Given the description of an element on the screen output the (x, y) to click on. 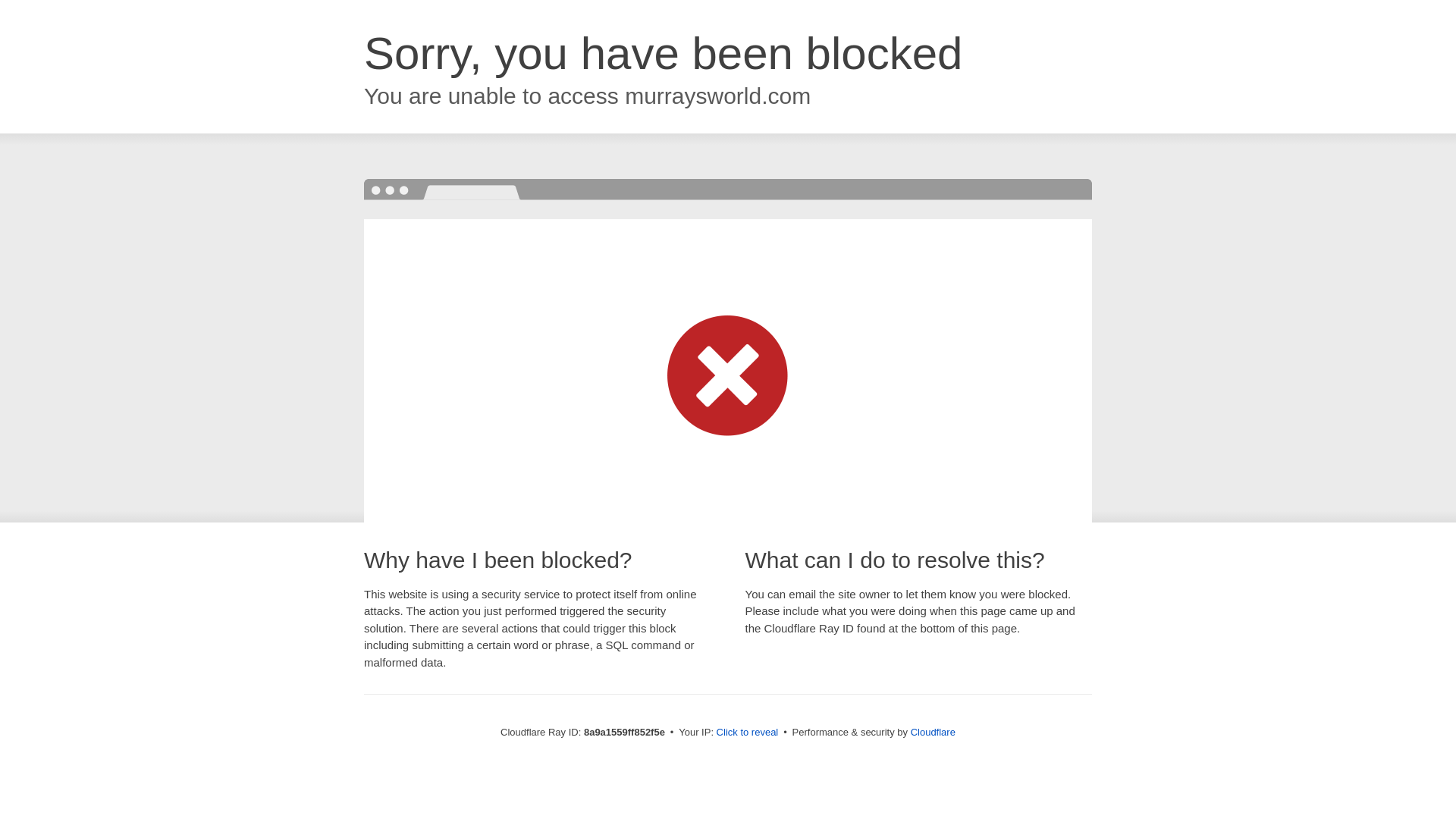
Cloudflare (933, 731)
Click to reveal (747, 732)
